Given the description of an element on the screen output the (x, y) to click on. 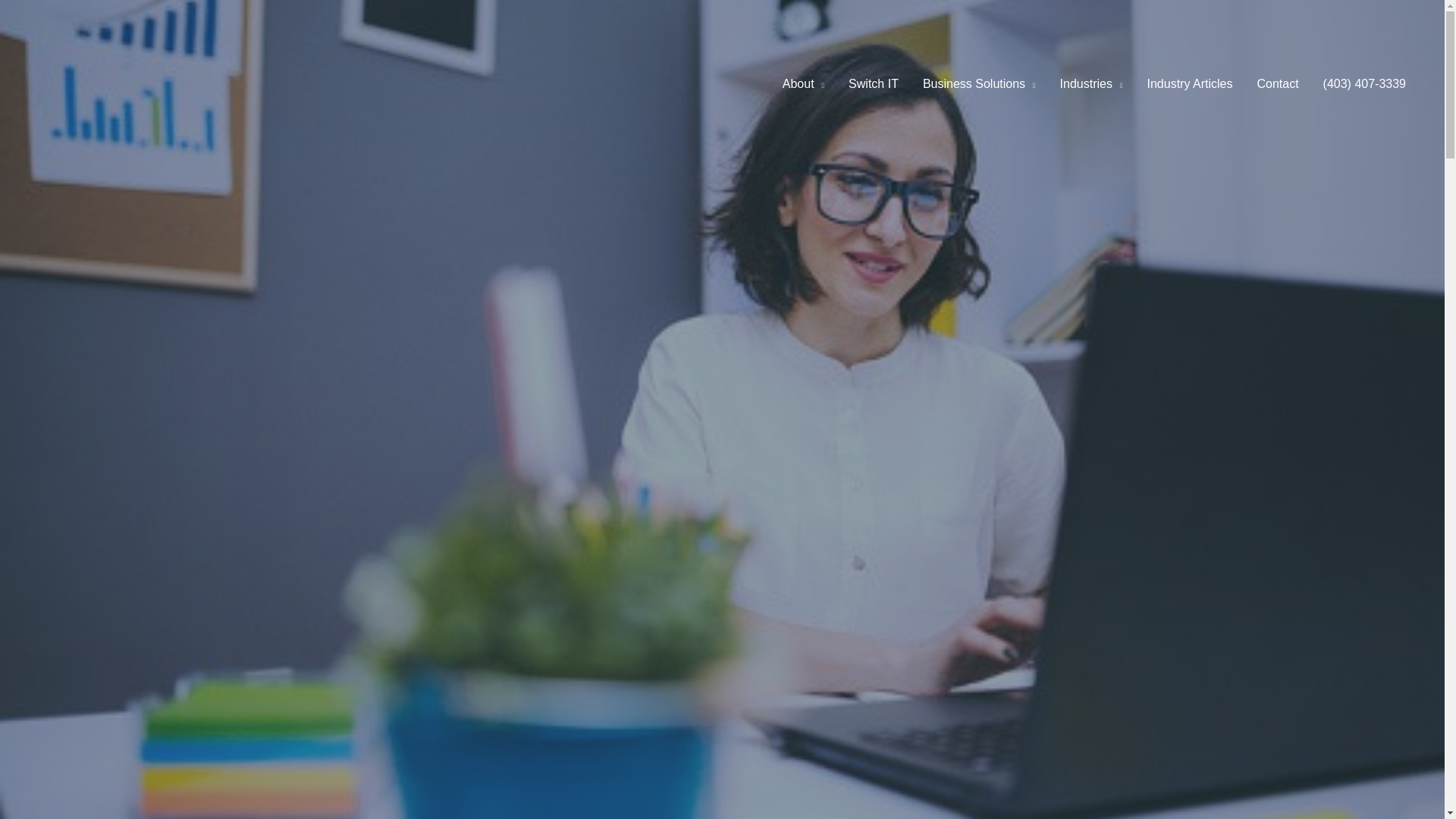
Contact (1277, 83)
Business Solutions (979, 83)
Industries (1091, 83)
Switch IT (873, 83)
Industry Articles (1189, 83)
About (802, 83)
